Given the description of an element on the screen output the (x, y) to click on. 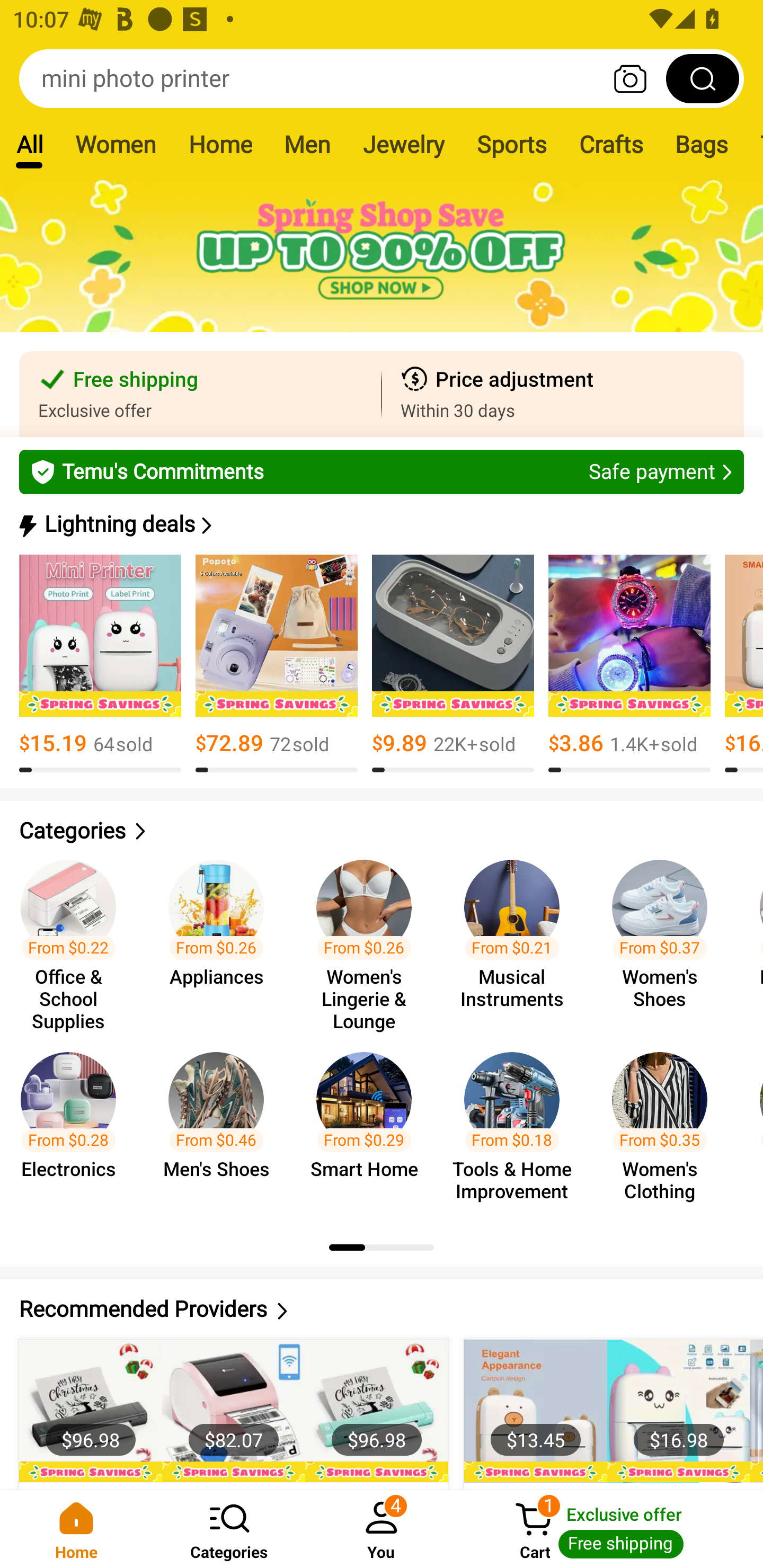
mini photo printer (381, 78)
All (29, 144)
Women (115, 144)
Home (219, 144)
Men (306, 144)
Jewelry (403, 144)
Sports (511, 144)
Crafts (611, 144)
Bags (701, 144)
Free shipping Exclusive offer (200, 394)
Price adjustment Within 30 days (562, 394)
Temu's Commitments (381, 471)
Lightning deals (379, 524)
$15.19 64￼sold 8.0 (100, 664)
$72.89 72￼sold 8.0 (276, 664)
$9.89 22K+￼sold 8.0 (453, 664)
$3.86 1.4K+￼sold 8.0 (629, 664)
Categories (381, 830)
From $0.22 Office & School Supplies (74, 936)
From $0.26 Appliances (222, 936)
From $0.26 Women's Lingerie & Lounge (369, 936)
From $0.21 Musical Instruments (517, 936)
From $0.37 Women's Shoes (665, 936)
From $0.28 Electronics (74, 1128)
From $0.46 Men's Shoes (222, 1128)
From $0.29 Smart Home (369, 1128)
From $0.18 Tools & Home Improvement (517, 1128)
From $0.35 Women's Clothing (665, 1128)
Recommended Providers (381, 1309)
Home (76, 1528)
Categories (228, 1528)
You 4 You (381, 1528)
Cart 1 Cart Exclusive offer (610, 1528)
